Given the description of an element on the screen output the (x, y) to click on. 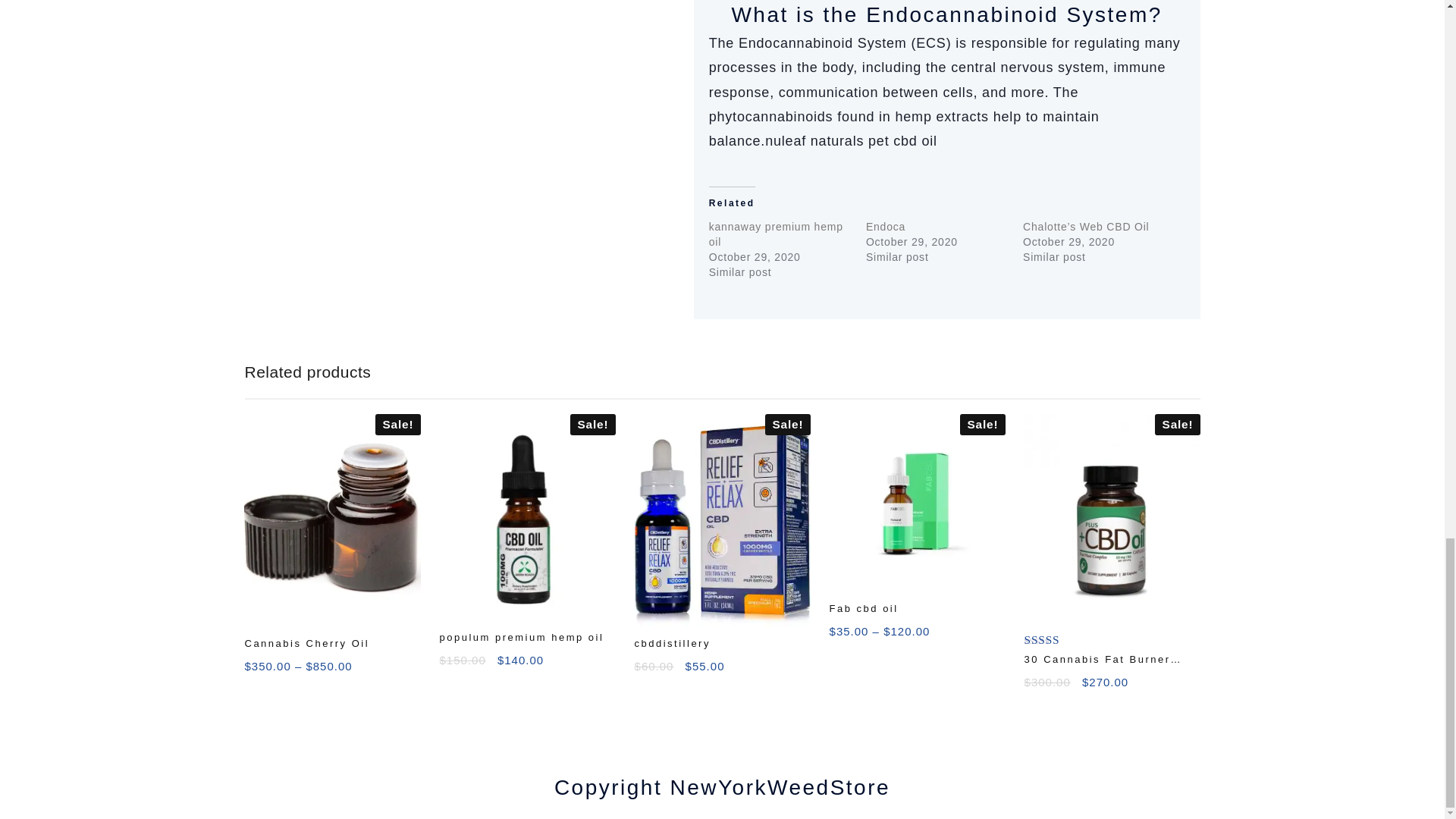
kannaway premium hemp oil (776, 234)
Endoca (885, 226)
